Given the description of an element on the screen output the (x, y) to click on. 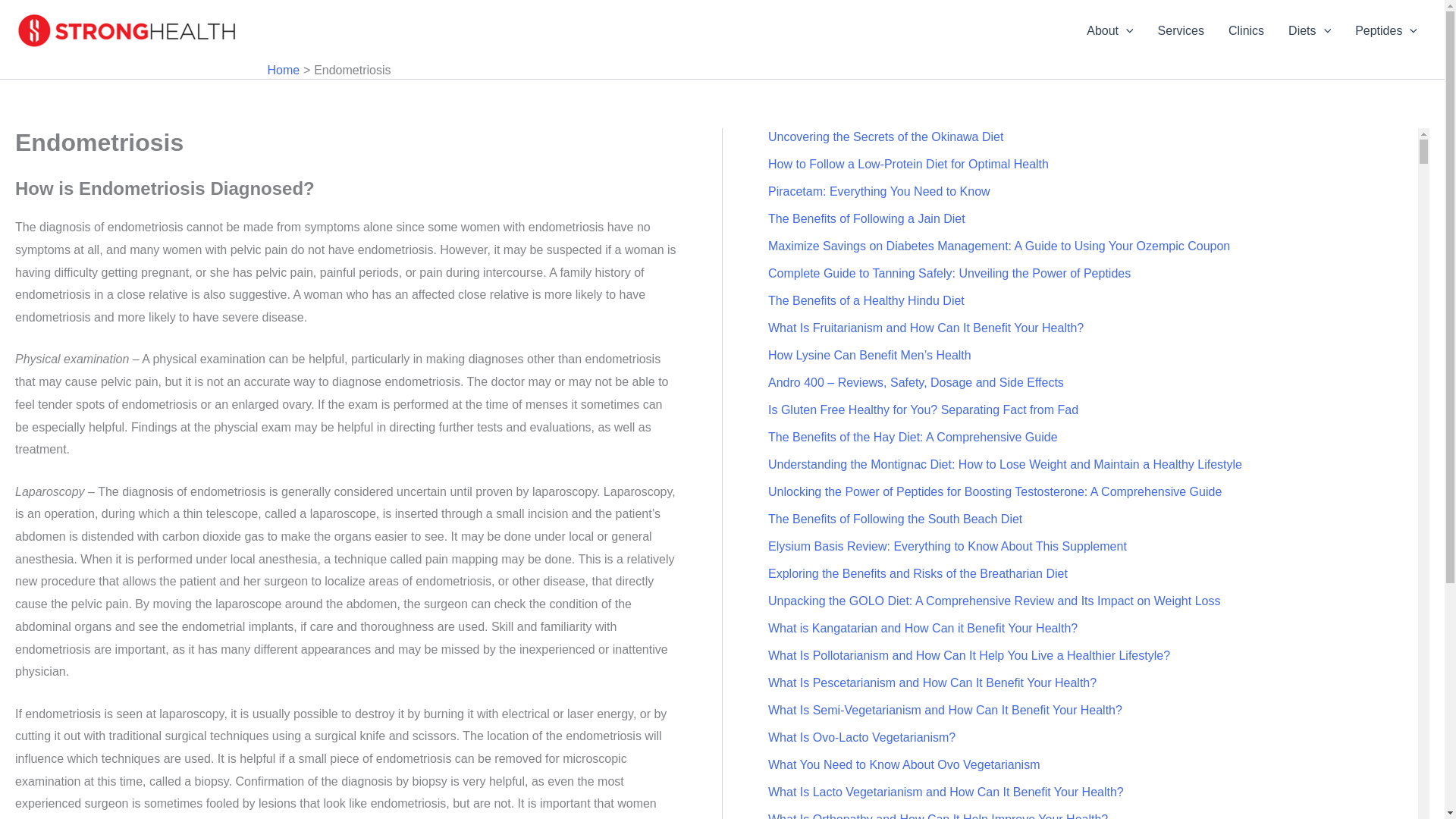
Home (282, 69)
Services (1180, 30)
About (1109, 30)
Peptides (1385, 30)
Diets (1309, 30)
Strong-Health-Logo - Strong Health (128, 30)
Clinics (1245, 30)
